Given the description of an element on the screen output the (x, y) to click on. 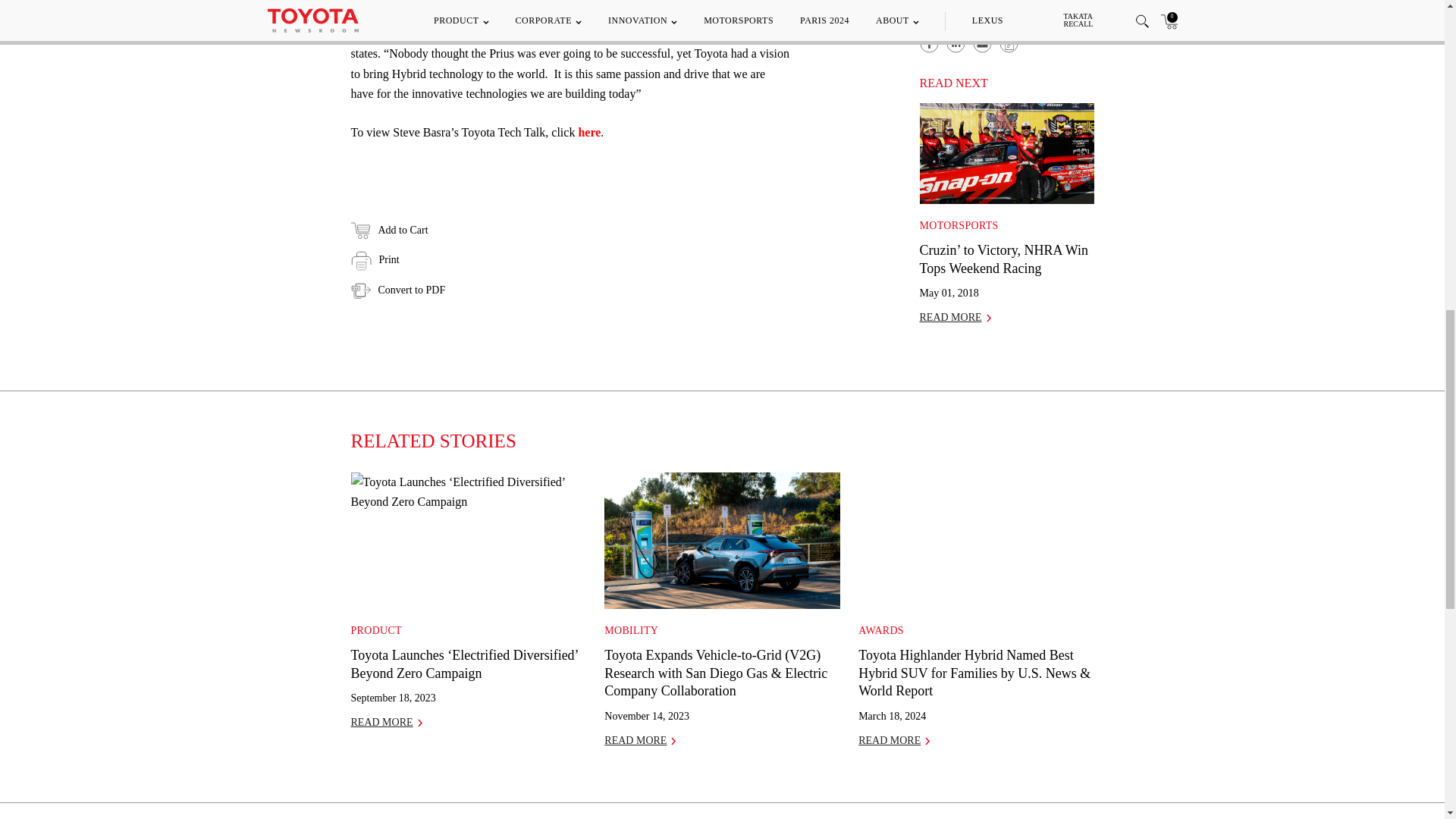
Mobility (631, 630)
Product (375, 630)
Awards (881, 630)
